Given the description of an element on the screen output the (x, y) to click on. 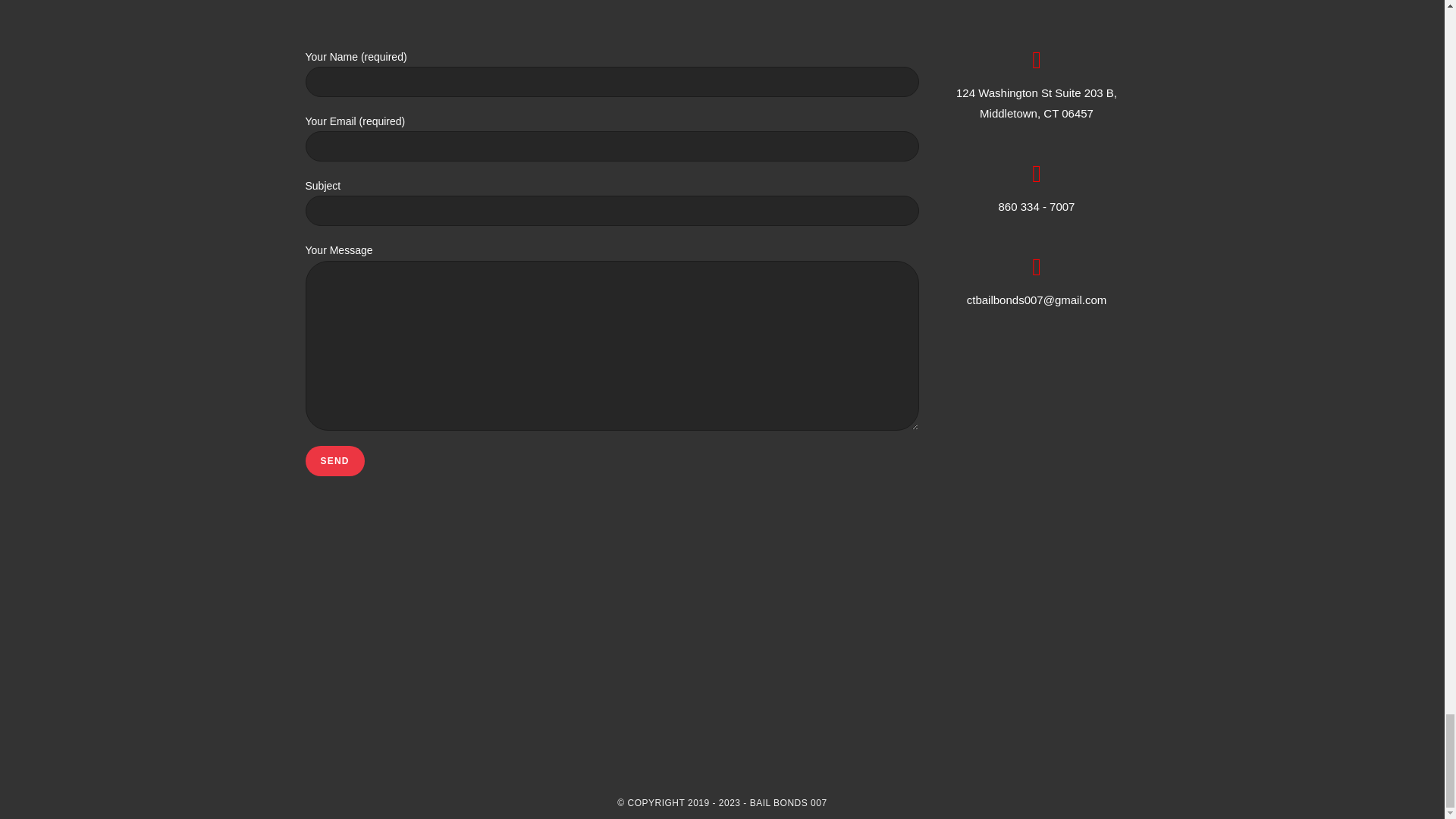
Send (334, 460)
